Given the description of an element on the screen output the (x, y) to click on. 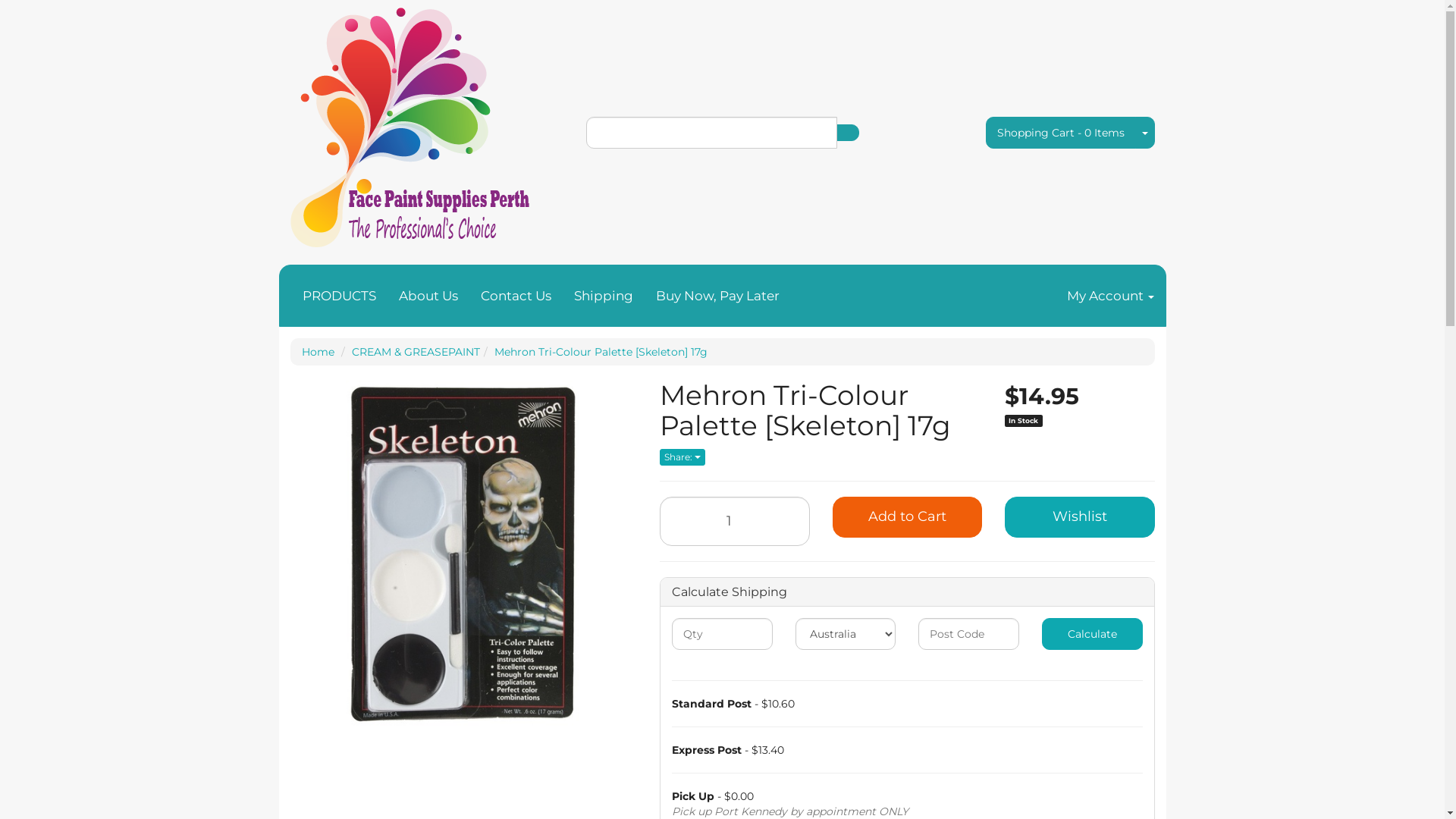
Buy Now, Pay Later Element type: text (717, 295)
Calculate Element type: text (1091, 633)
About Us Element type: text (427, 295)
Home Element type: text (317, 351)
Shipping Element type: text (603, 295)
Add to Cart Element type: text (907, 516)
Face Paint Supplies Perth Element type: hover (408, 123)
My Account Element type: text (1110, 295)
Search Element type: text (846, 132)
Share: Element type: text (682, 456)
Shopping Cart - 0 Items Element type: text (1060, 132)
Mehron Tri-Colour Palette [Skeleton] 17g Element type: text (600, 351)
Contact Us Element type: text (514, 295)
Wishlist Element type: text (1079, 516)
CREAM & GREASEPAINT Element type: text (415, 351)
PRODUCTS Element type: text (339, 295)
